Given the description of an element on the screen output the (x, y) to click on. 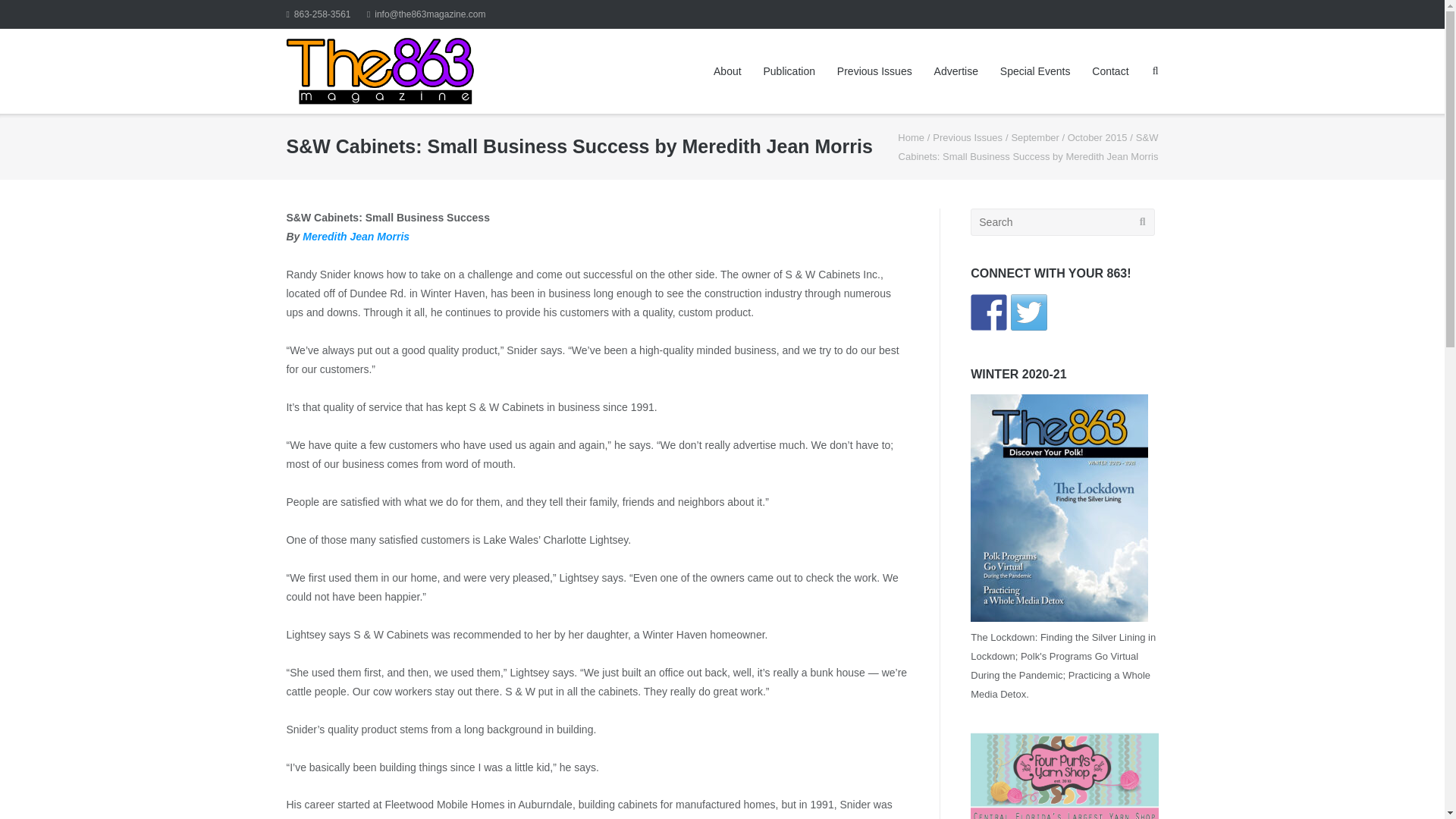
Home (911, 137)
Meredith Jean Morris (355, 236)
Winter 2020-21 (1059, 618)
The 863 Magazine (911, 137)
Follow us on Facebook (989, 312)
863-258-3561 (317, 14)
Previous Issues (968, 137)
Follow us on Twitter (1028, 312)
Search (38, 13)
Previous Issues (968, 137)
